Given the description of an element on the screen output the (x, y) to click on. 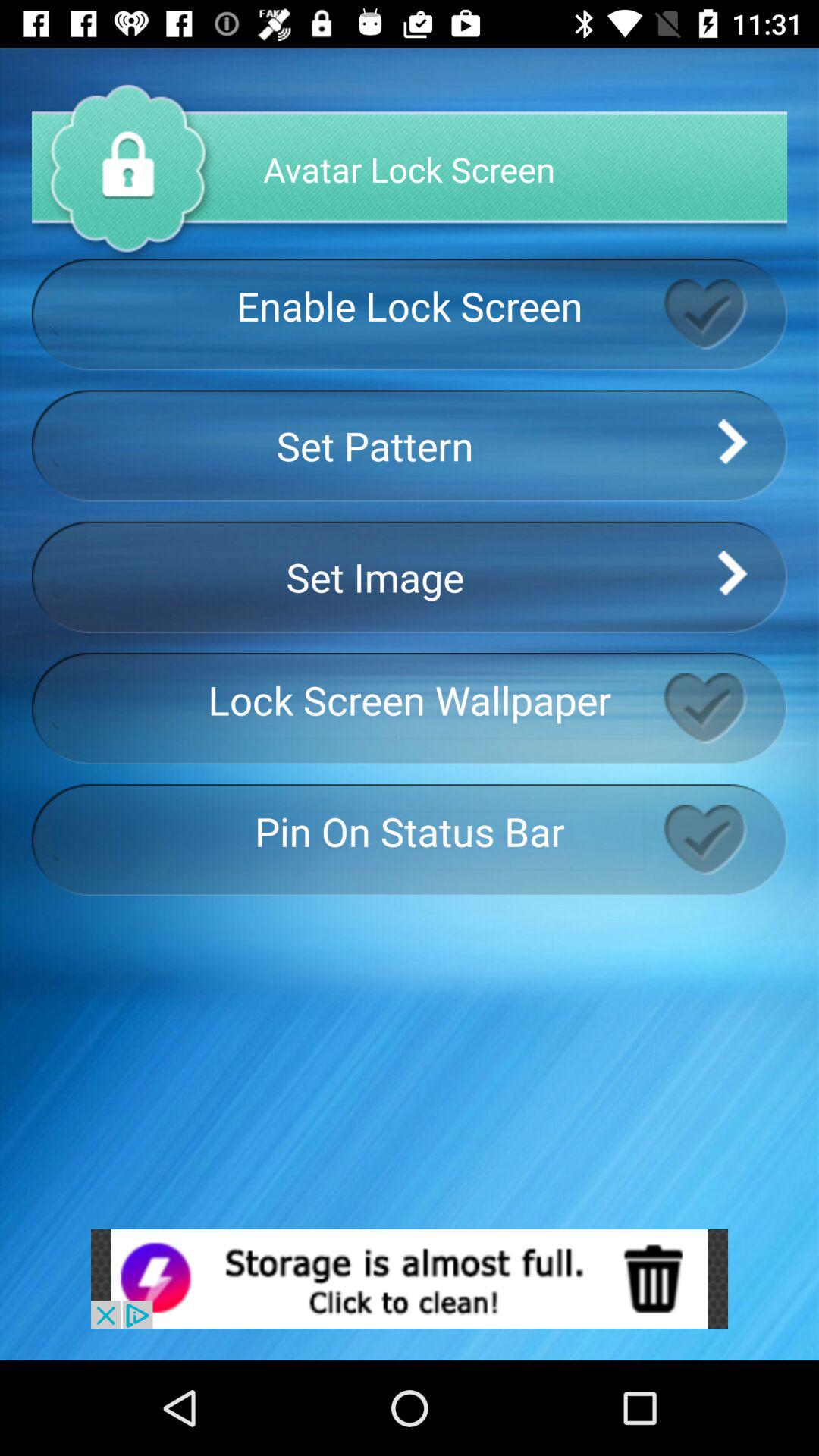
click to enable lock screen (725, 314)
